Given the description of an element on the screen output the (x, y) to click on. 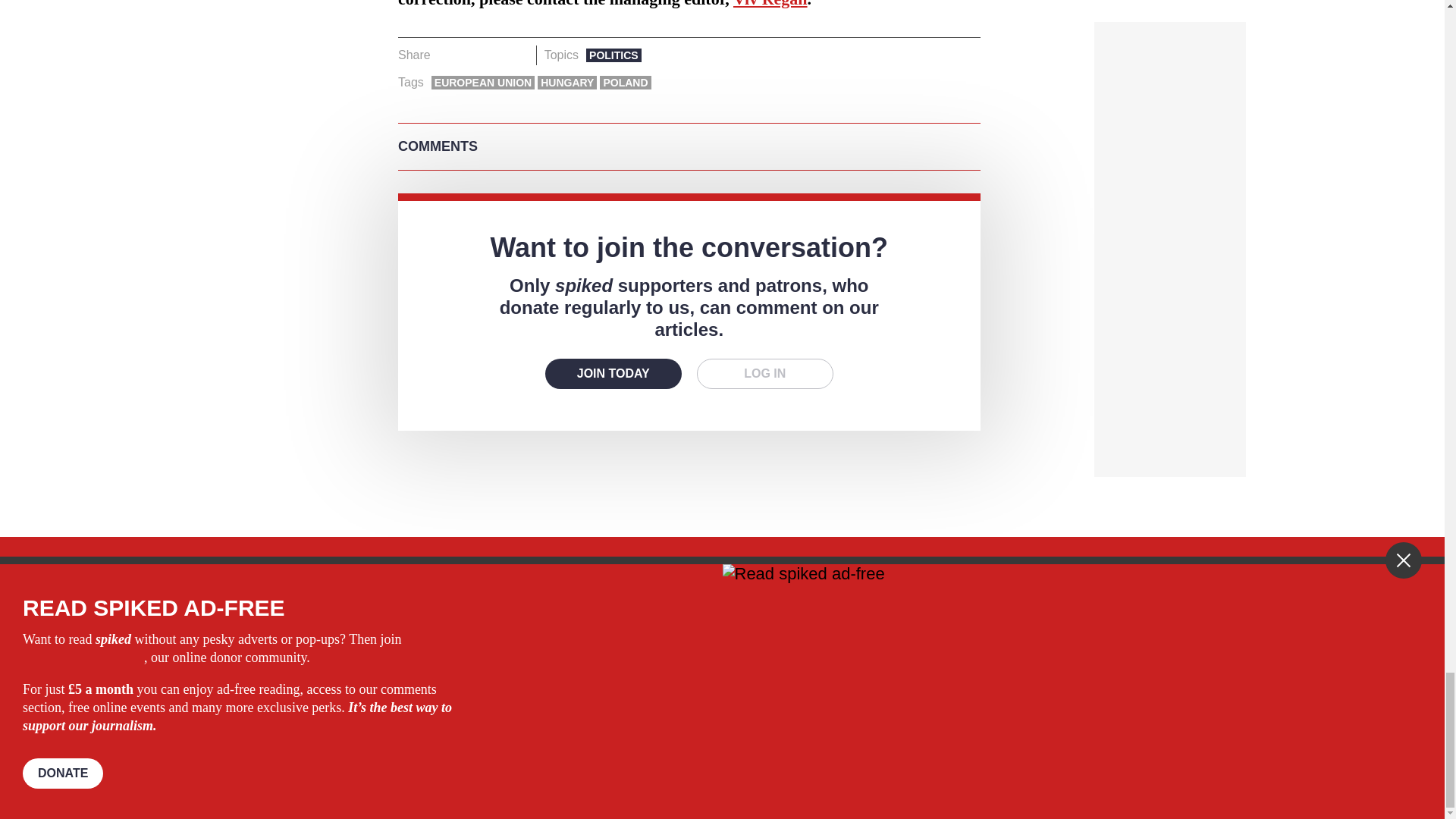
Share on Email (518, 55)
Share on Facebook (448, 55)
Share on Twitter (471, 55)
Share on Whatsapp (494, 55)
